Given the description of an element on the screen output the (x, y) to click on. 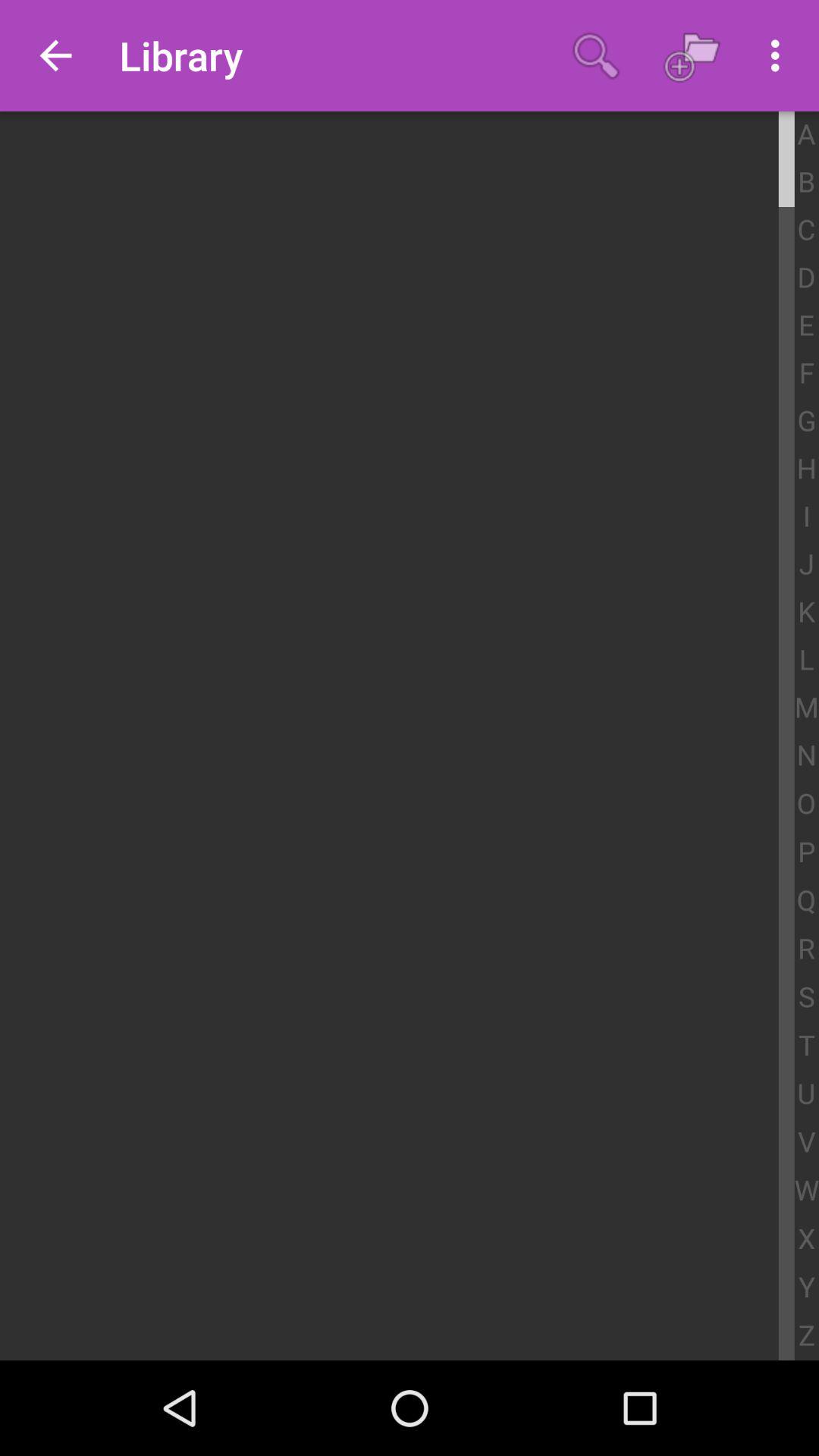
select k icon (806, 613)
